Given the description of an element on the screen output the (x, y) to click on. 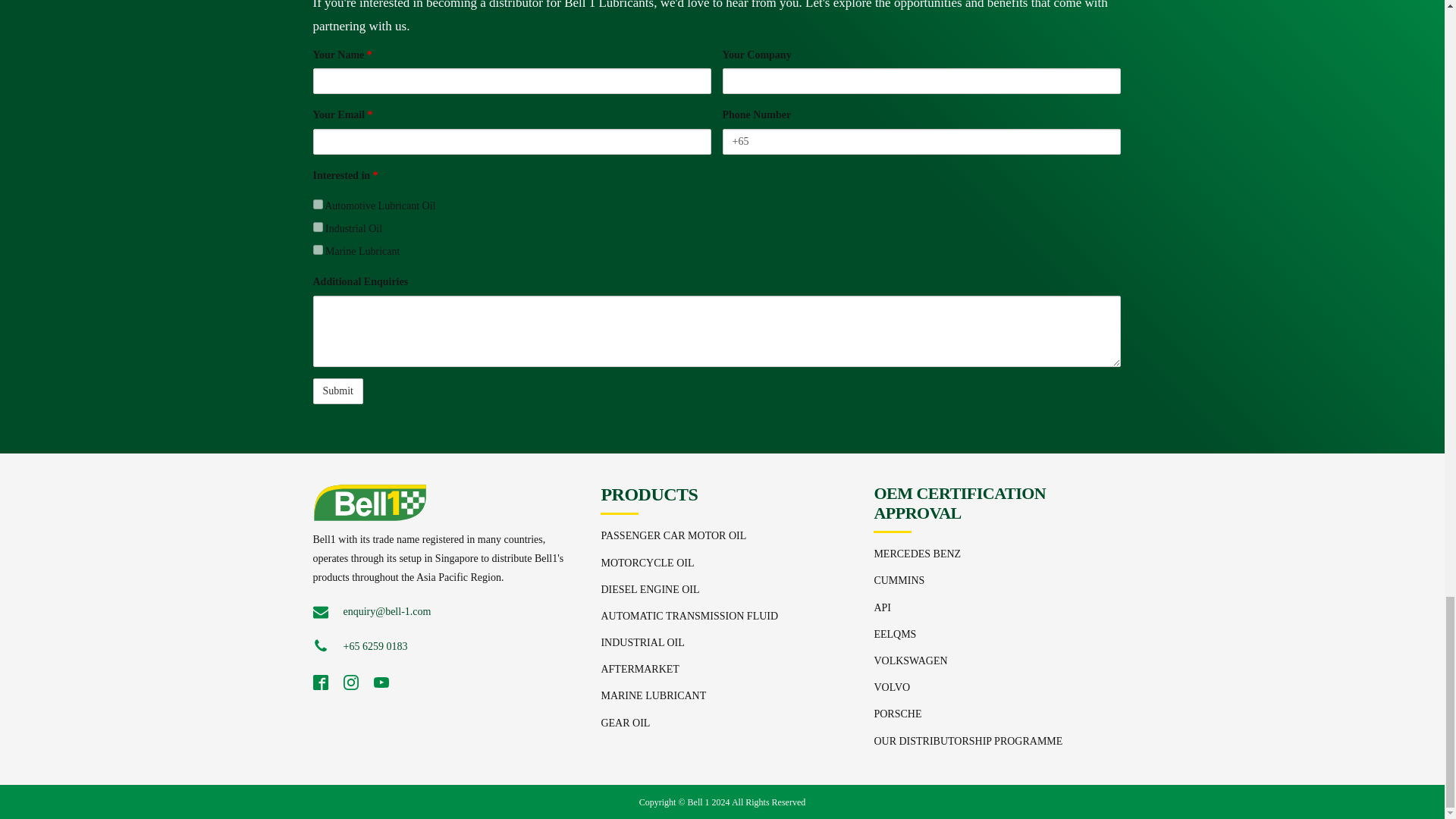
Marine Lubricant (317, 249)
Submit (337, 391)
Industrial Oil (317, 226)
Automotive Lubricant Oil (317, 204)
Submit (337, 391)
